Given the description of an element on the screen output the (x, y) to click on. 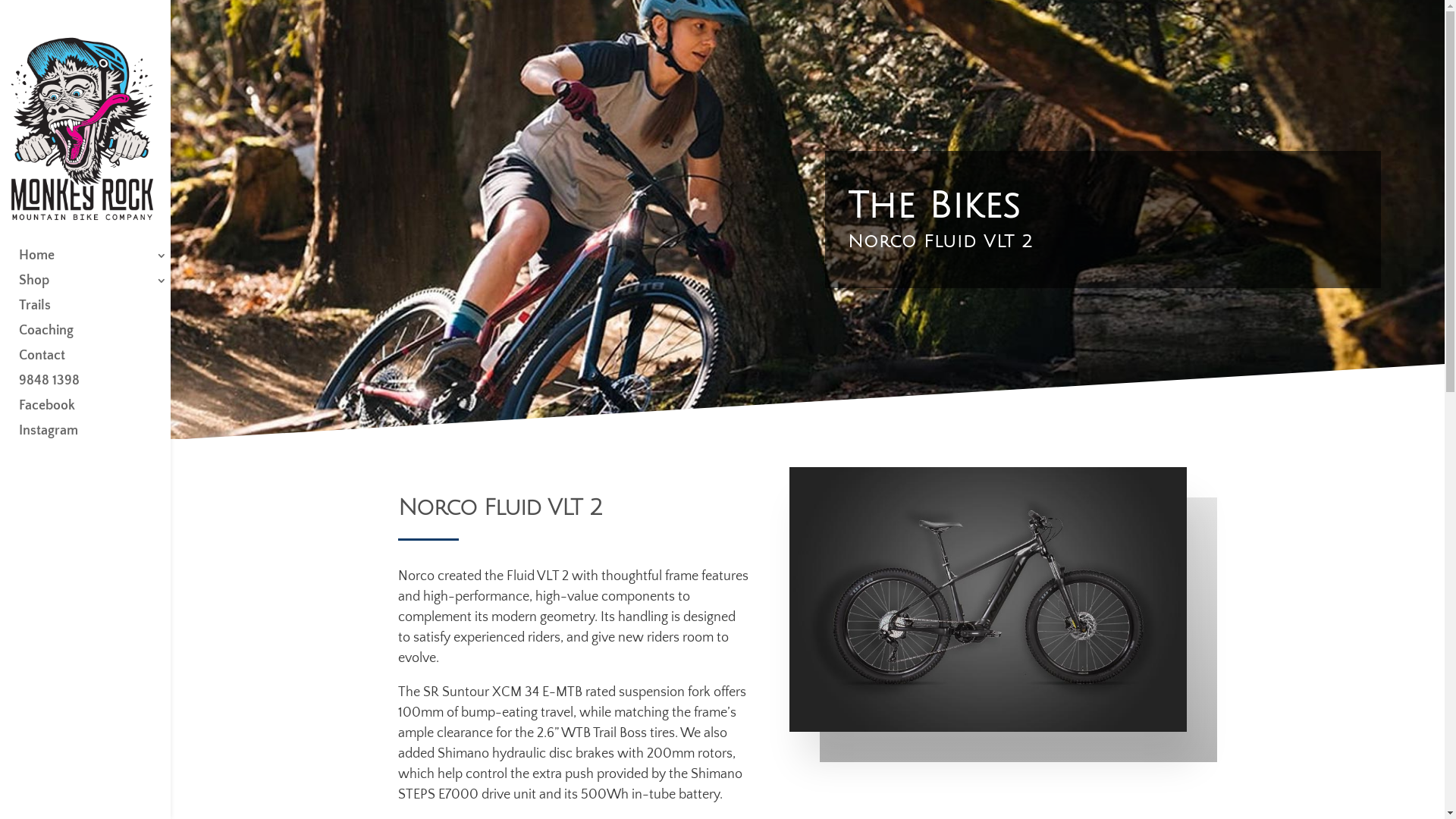
Contact Element type: text (100, 362)
Instagram Element type: text (100, 437)
Coaching Element type: text (100, 337)
9848 1398 Element type: text (100, 387)
Shop Element type: text (100, 287)
Facebook Element type: text (100, 412)
Home Element type: text (100, 262)
Trails Element type: text (100, 312)
